Given the description of an element on the screen output the (x, y) to click on. 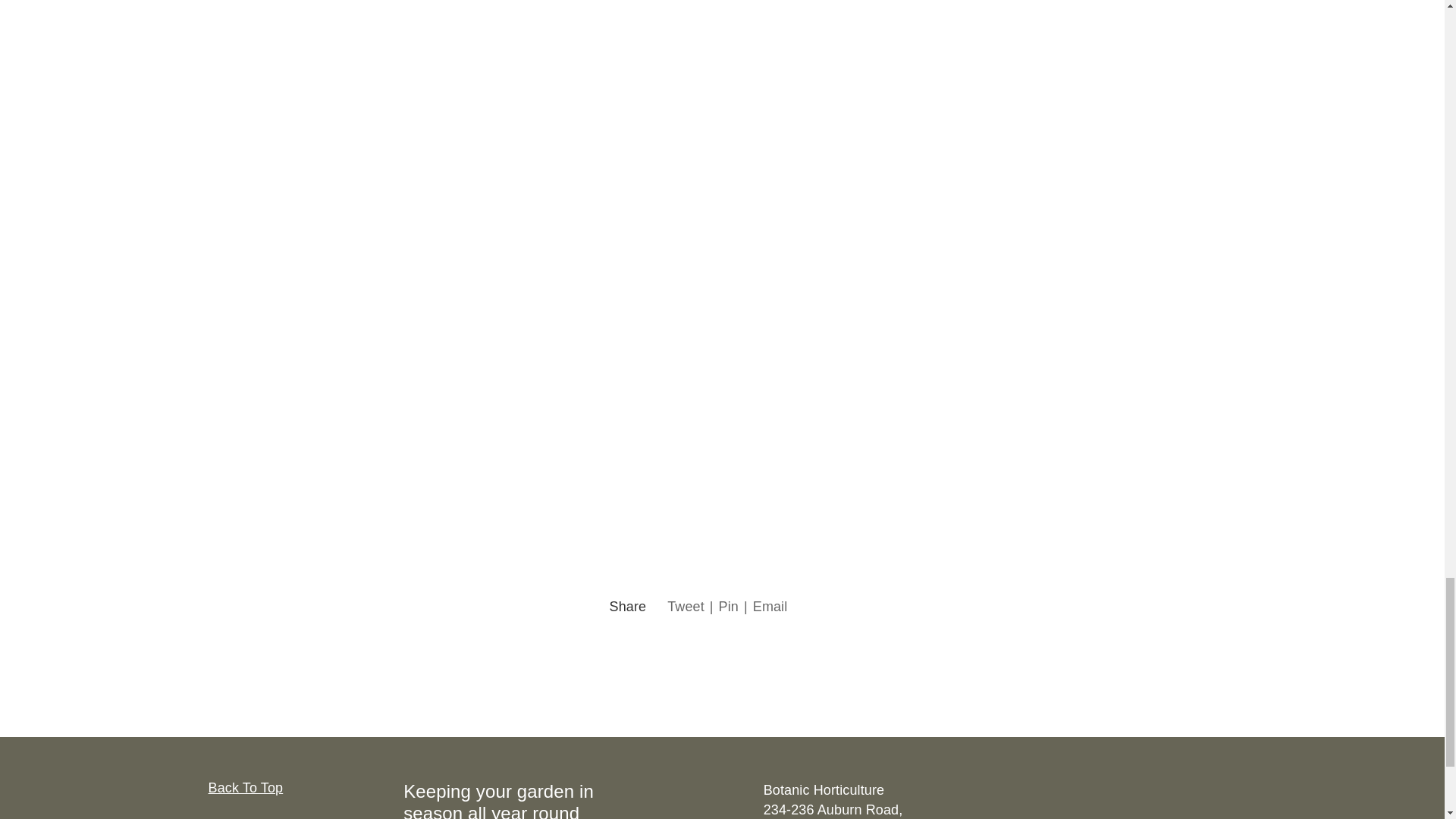
Tweet (685, 606)
Email (769, 606)
Pin (728, 606)
